Given the description of an element on the screen output the (x, y) to click on. 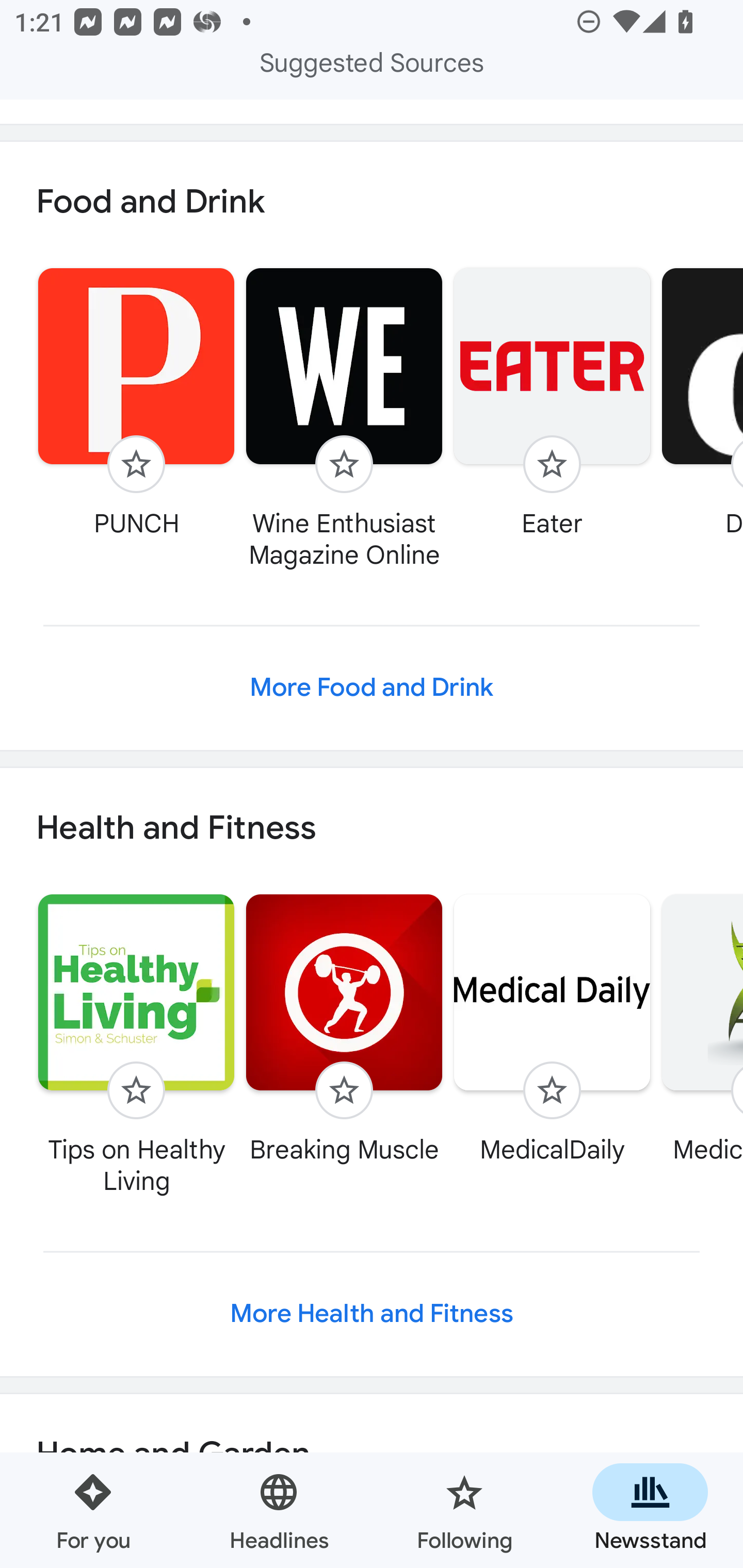
Food and Drink (371, 201)
Follow PUNCH (136, 401)
Follow Wine Enthusiast Magazine Online (344, 417)
Follow Eater (552, 401)
Follow (135, 463)
Follow (343, 463)
Follow (552, 463)
More Food and Drink (371, 687)
Health and Fitness (371, 828)
Follow Tips on Healthy Living (136, 1044)
Follow Breaking Muscle (344, 1028)
Follow MedicalDaily (552, 1028)
Follow (135, 1090)
Follow (343, 1090)
Follow (552, 1090)
More Health and Fitness (371, 1313)
For you (92, 1509)
Headlines (278, 1509)
Following (464, 1509)
Newsstand (650, 1509)
